Given the description of an element on the screen output the (x, y) to click on. 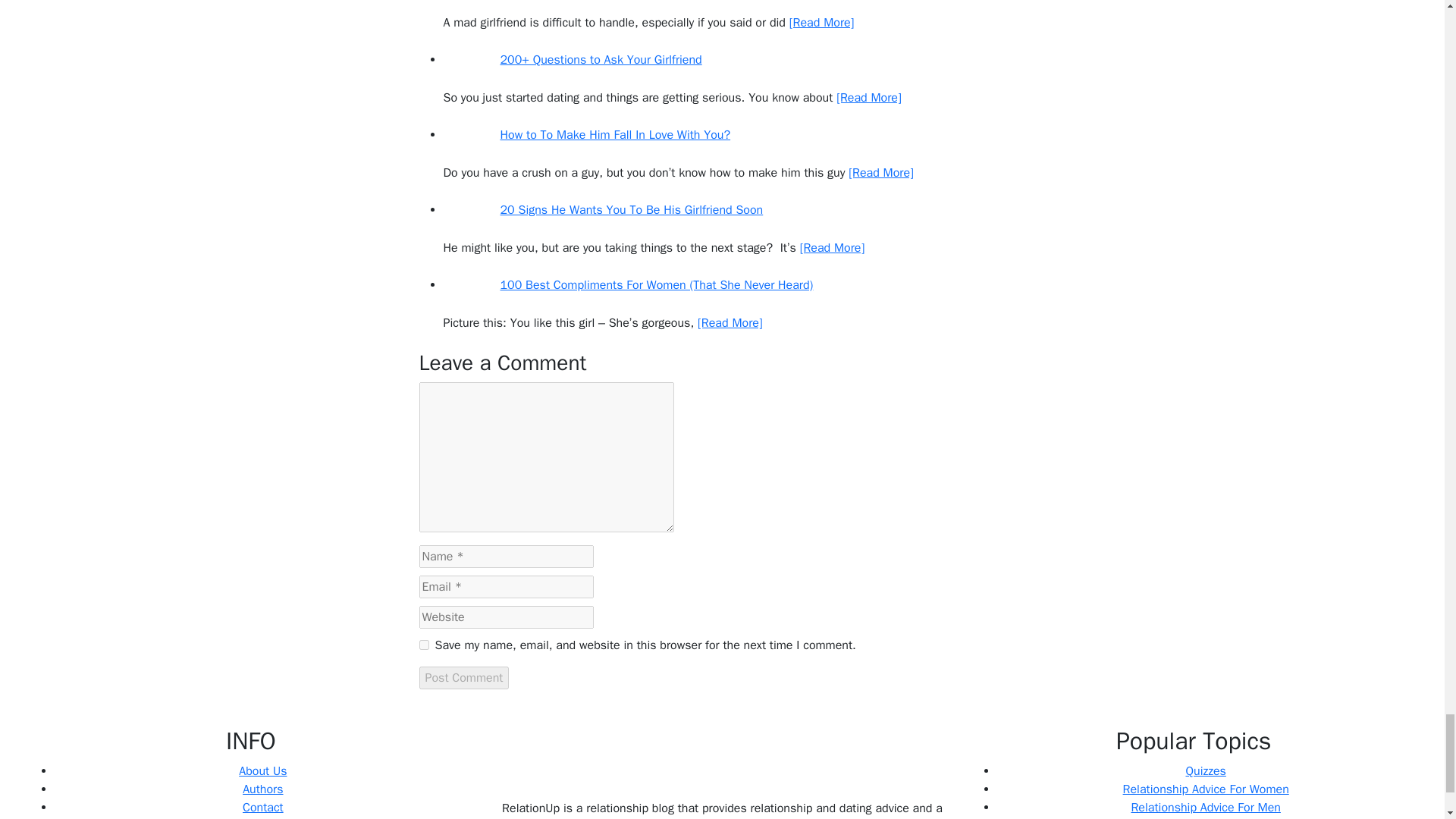
yes (423, 644)
Post Comment (463, 677)
How to To Make Him Fall In Love With You? (586, 134)
